Given the description of an element on the screen output the (x, y) to click on. 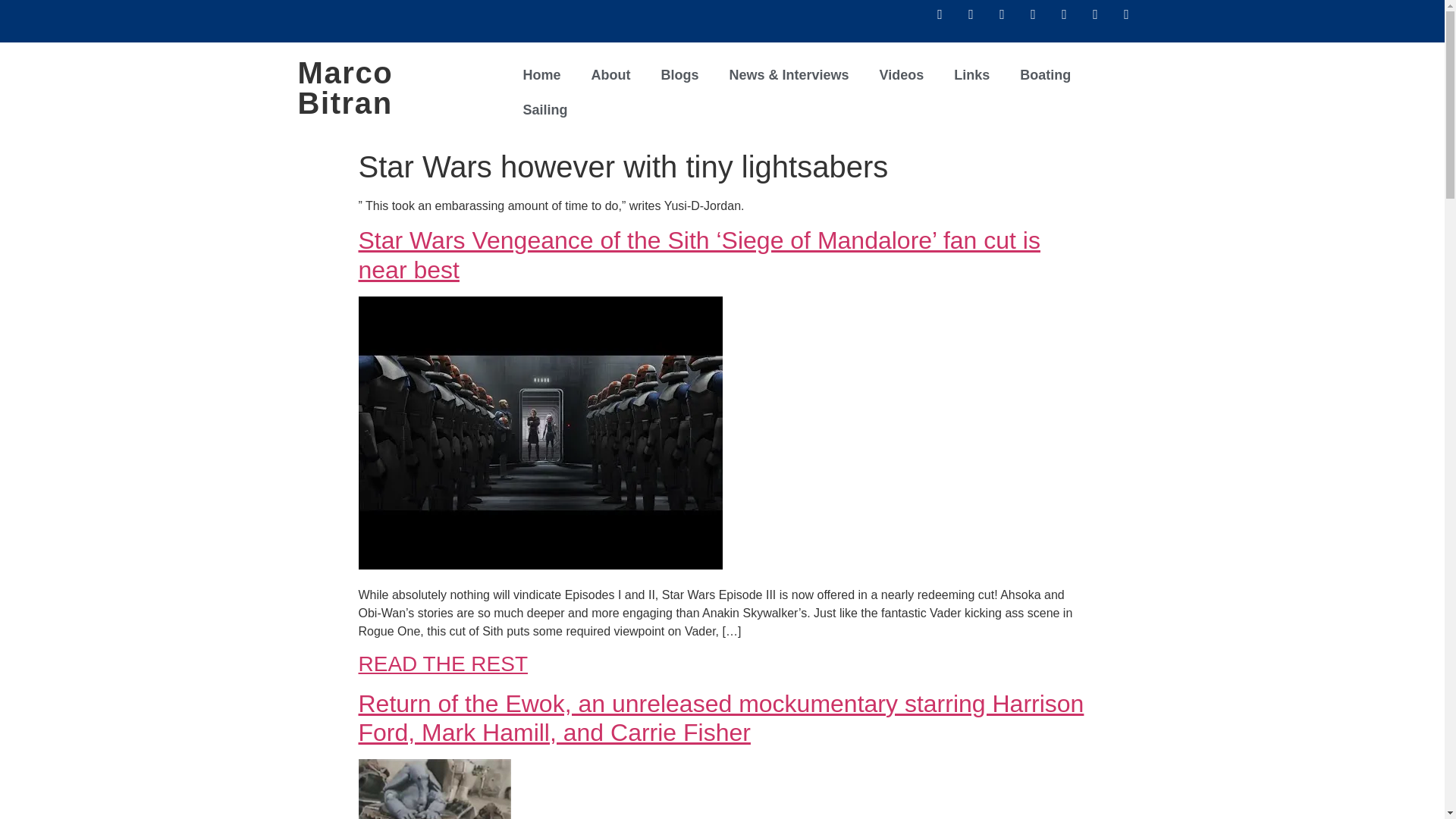
Sailing (544, 109)
Marco Bitran (345, 87)
Videos (901, 74)
Links (971, 74)
Blogs (679, 74)
READ THE REST (442, 663)
About (611, 74)
Boating (1045, 74)
Home (540, 74)
